Given the description of an element on the screen output the (x, y) to click on. 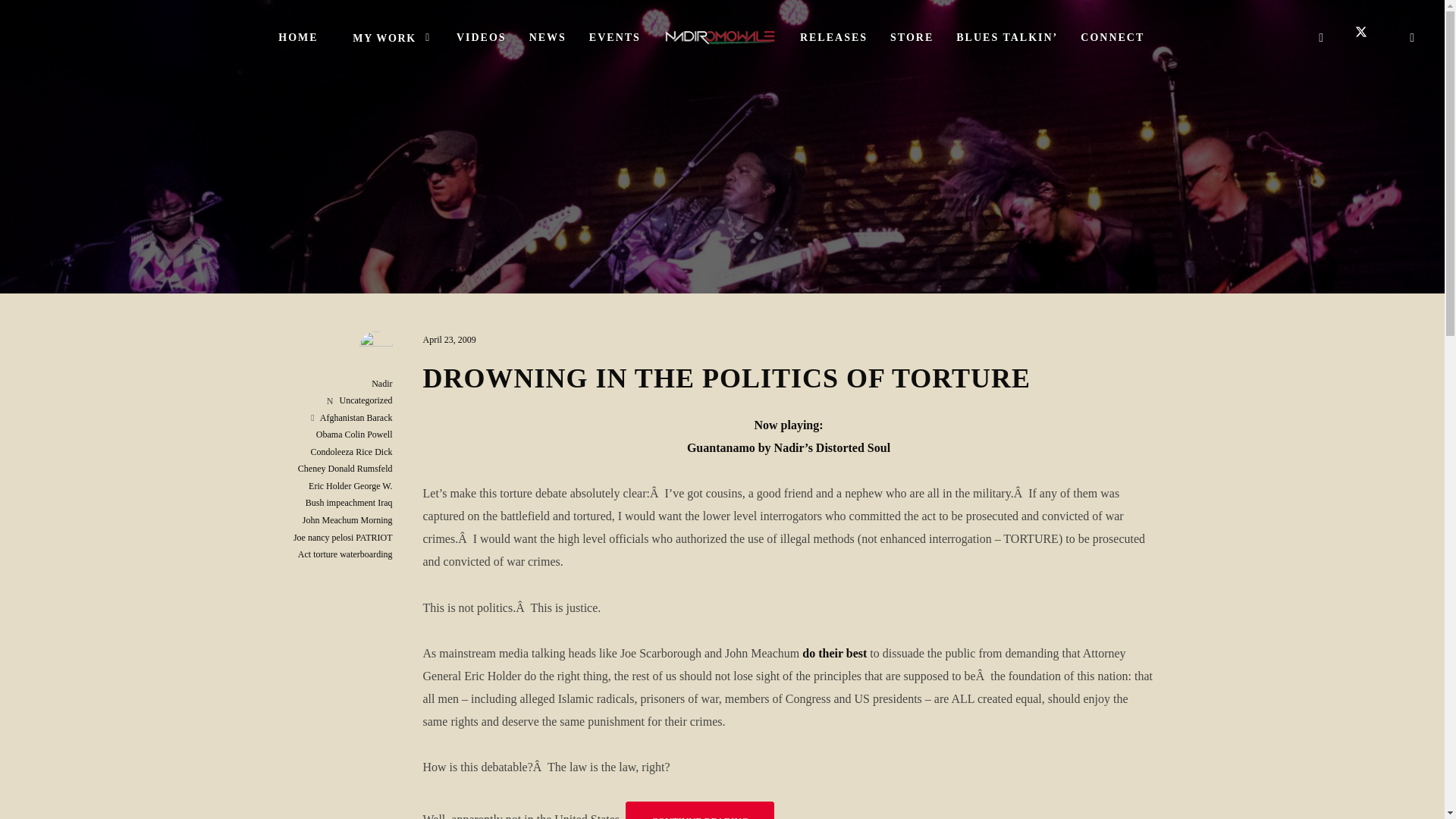
instagram (1412, 37)
EVENTS (615, 38)
DROWNING IN THE POLITICS OF TORTURE (726, 378)
View all posts by Nadir (381, 383)
April 23, 2009 (449, 339)
VIDEOS (481, 38)
CONNECT (1112, 38)
EVENTS (615, 38)
twitter (1366, 37)
RELEASES (834, 38)
VIDEOS (481, 38)
MY WORK (387, 38)
facebook (1320, 37)
RELEASES (834, 38)
CONNECT (1112, 38)
